Given the description of an element on the screen output the (x, y) to click on. 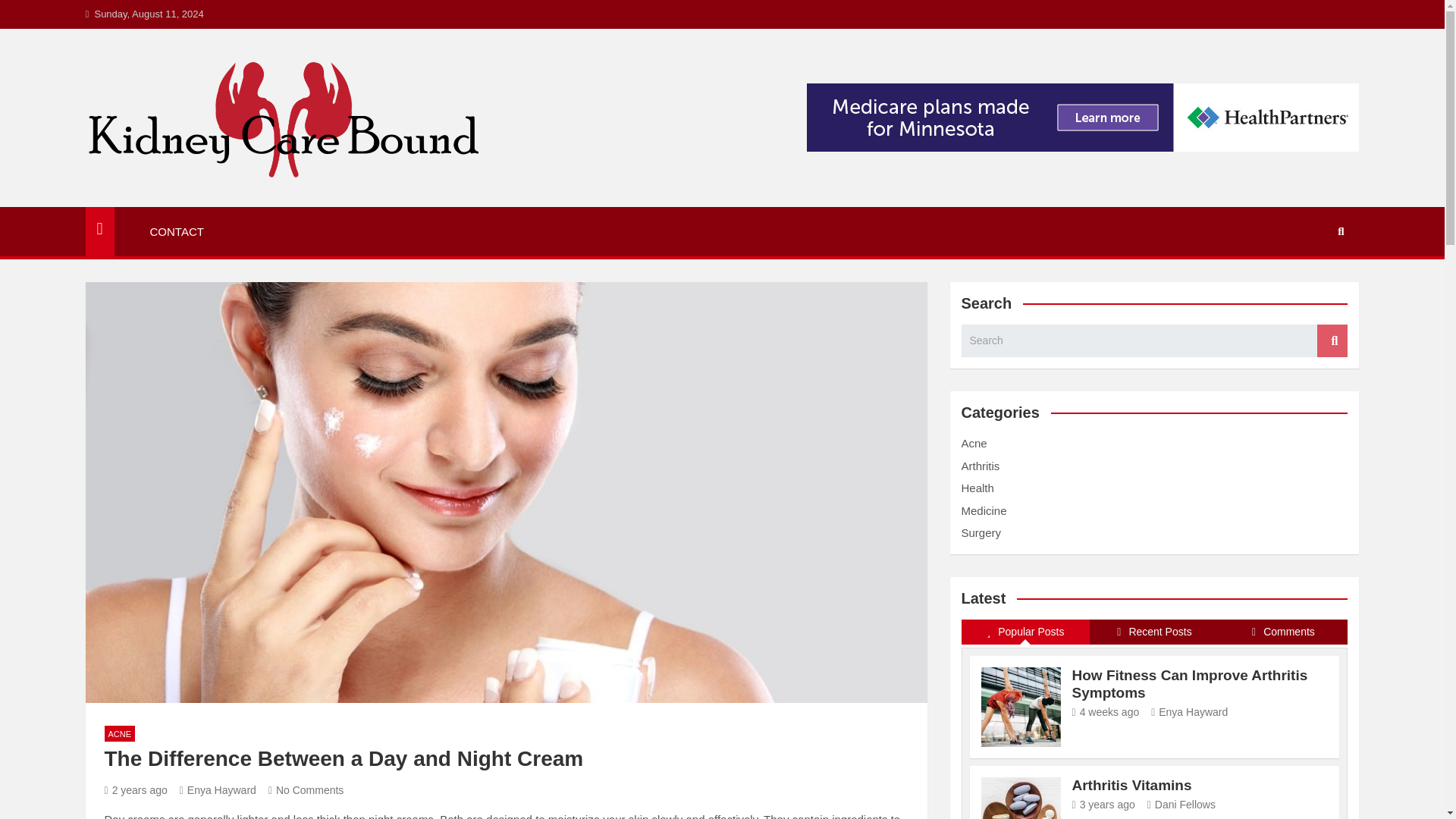
Medicine (983, 510)
Popular Posts (1025, 632)
Arthritis (980, 465)
ACNE (119, 733)
Enya Hayward (217, 789)
How Fitness Can Improve Arthritis Symptoms (1105, 711)
Surgery (980, 532)
CONTACT (177, 232)
Search (1332, 340)
No Comments (305, 789)
